Given the description of an element on the screen output the (x, y) to click on. 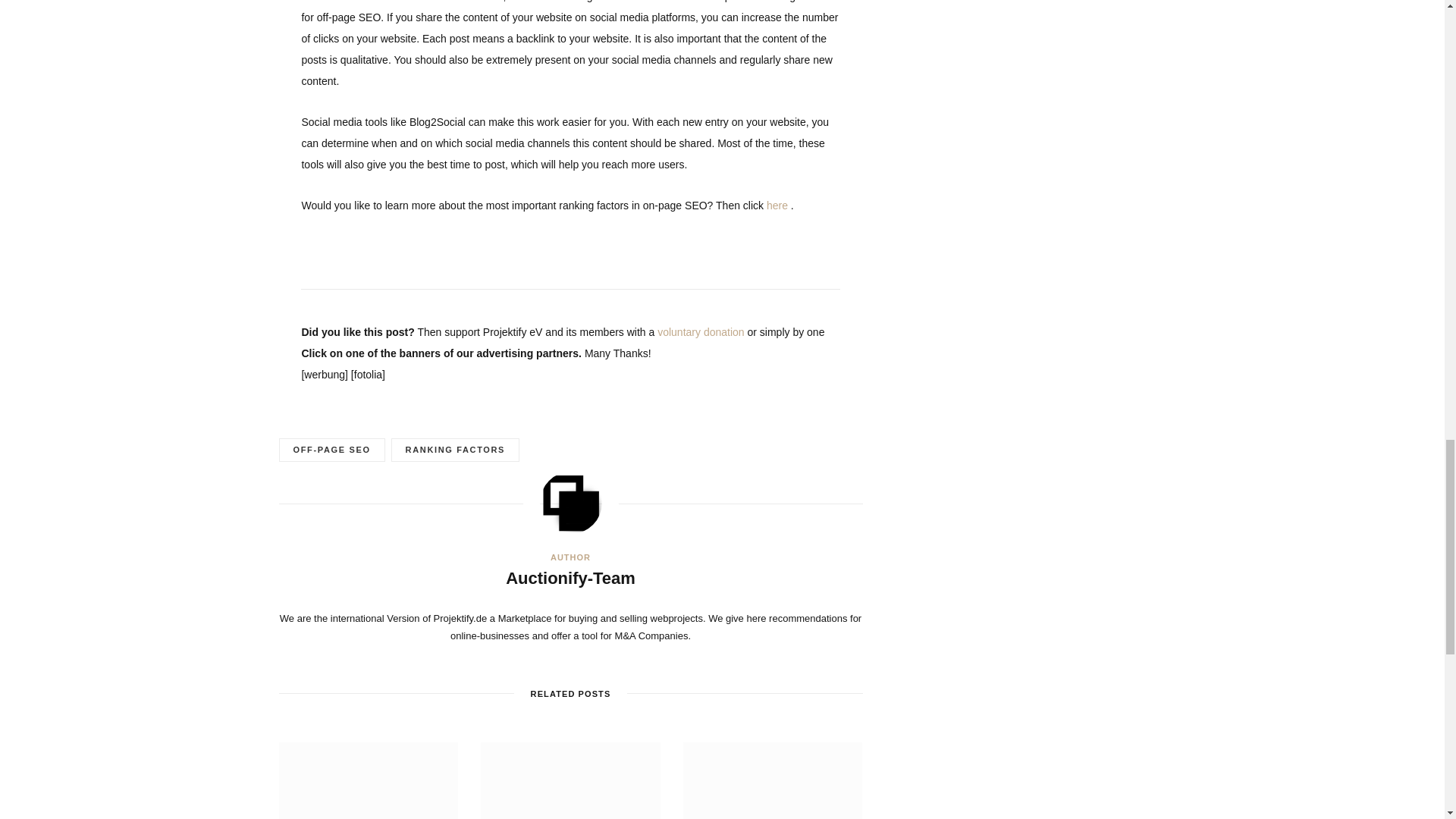
Posts by Auctionify-Team (569, 578)
The Art of effective Graphic Design in Web Projects (368, 780)
Safeguarding Your Projects from Cyber Threats (570, 780)
Enhancing Functionality and Design (772, 780)
